Given the description of an element on the screen output the (x, y) to click on. 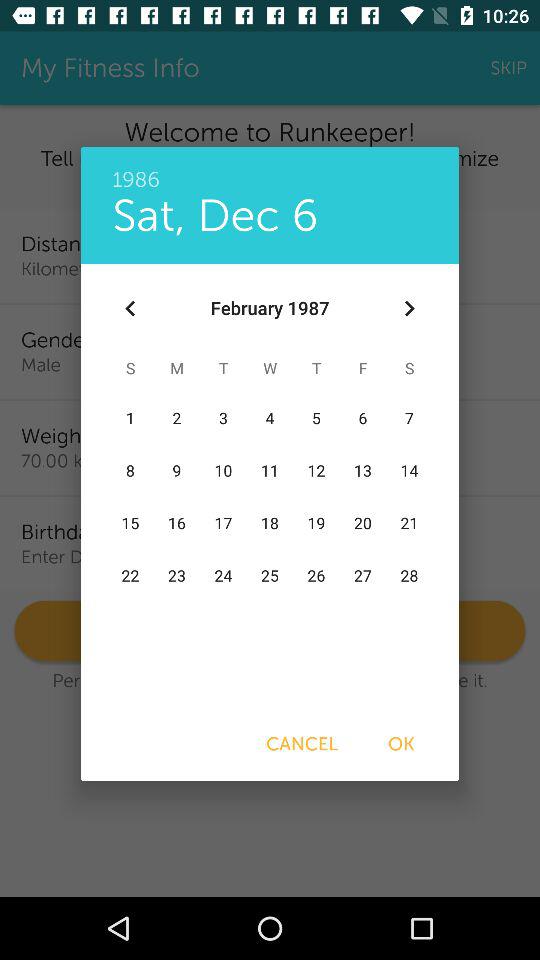
scroll to the ok item (401, 743)
